Given the description of an element on the screen output the (x, y) to click on. 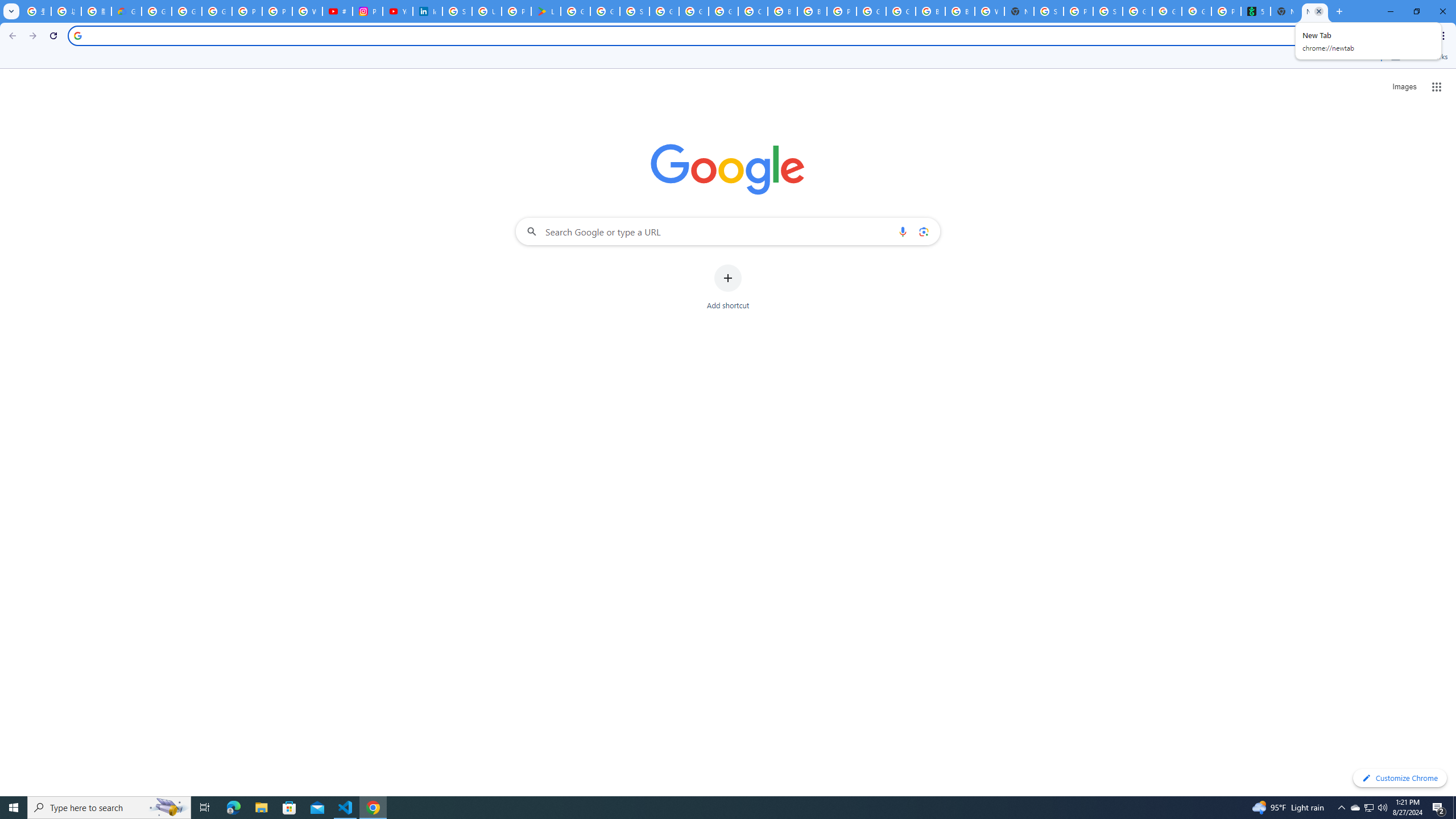
Identity verification via Persona | LinkedIn Help (426, 11)
Google Cloud Platform (693, 11)
Search by image (922, 230)
Search tabs (10, 11)
New Tab (1314, 11)
Customize Chrome (1399, 778)
Sign in - Google Accounts (1048, 11)
New Tab (1338, 11)
